Given the description of an element on the screen output the (x, y) to click on. 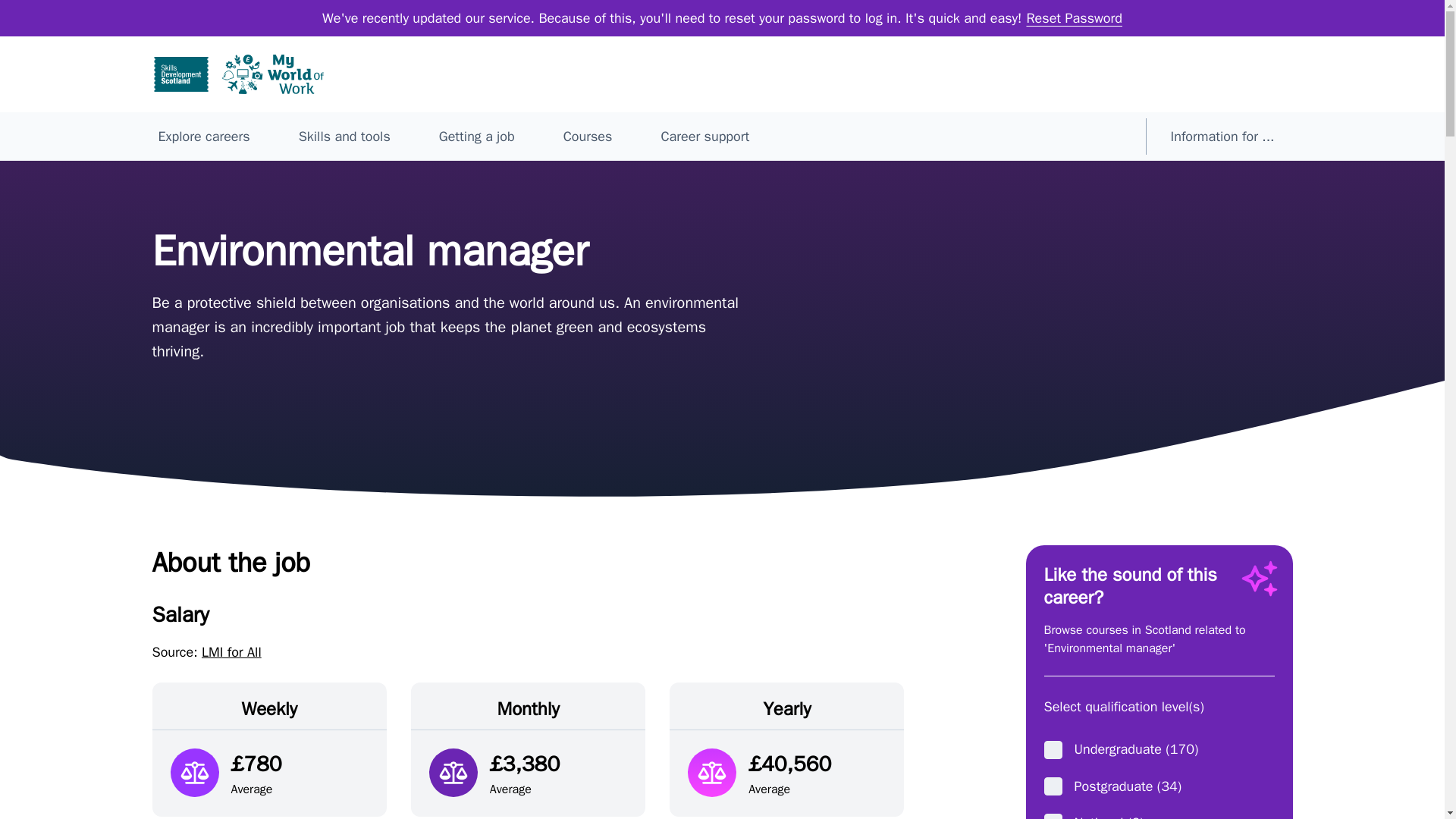
Undergraduate (1052, 750)
Reset Password (1074, 17)
My World of Work (272, 74)
Getting a job (479, 136)
LMI for All (232, 651)
Skills and tools (347, 136)
Postgraduate (1052, 786)
National (1052, 816)
Courses (590, 136)
Career support (707, 136)
